Given the description of an element on the screen output the (x, y) to click on. 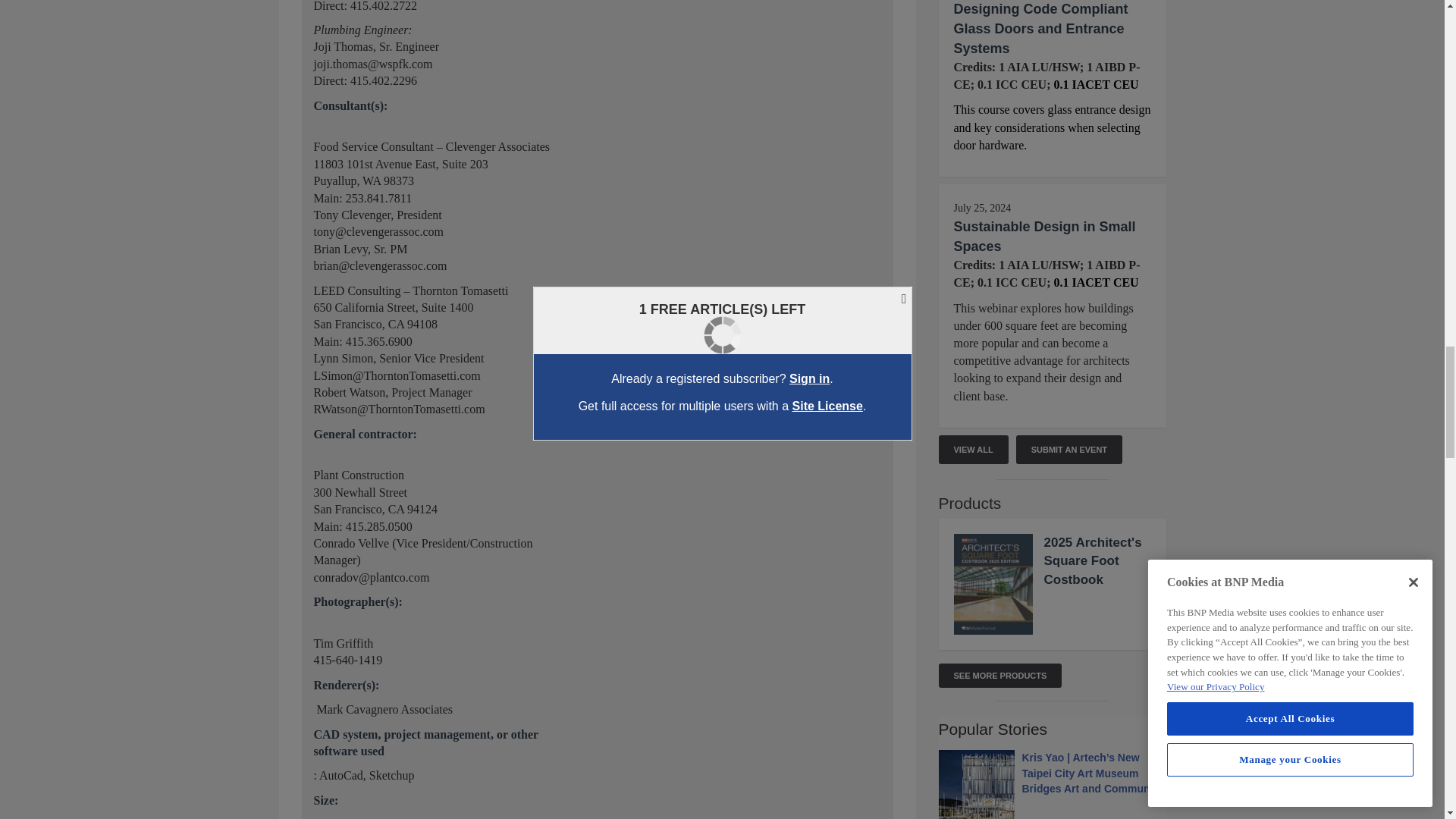
Sustainable Design in Small Spaces (1044, 236)
Designing Code Compliant Glass Doors and Entrance Systems (1040, 28)
